Given the description of an element on the screen output the (x, y) to click on. 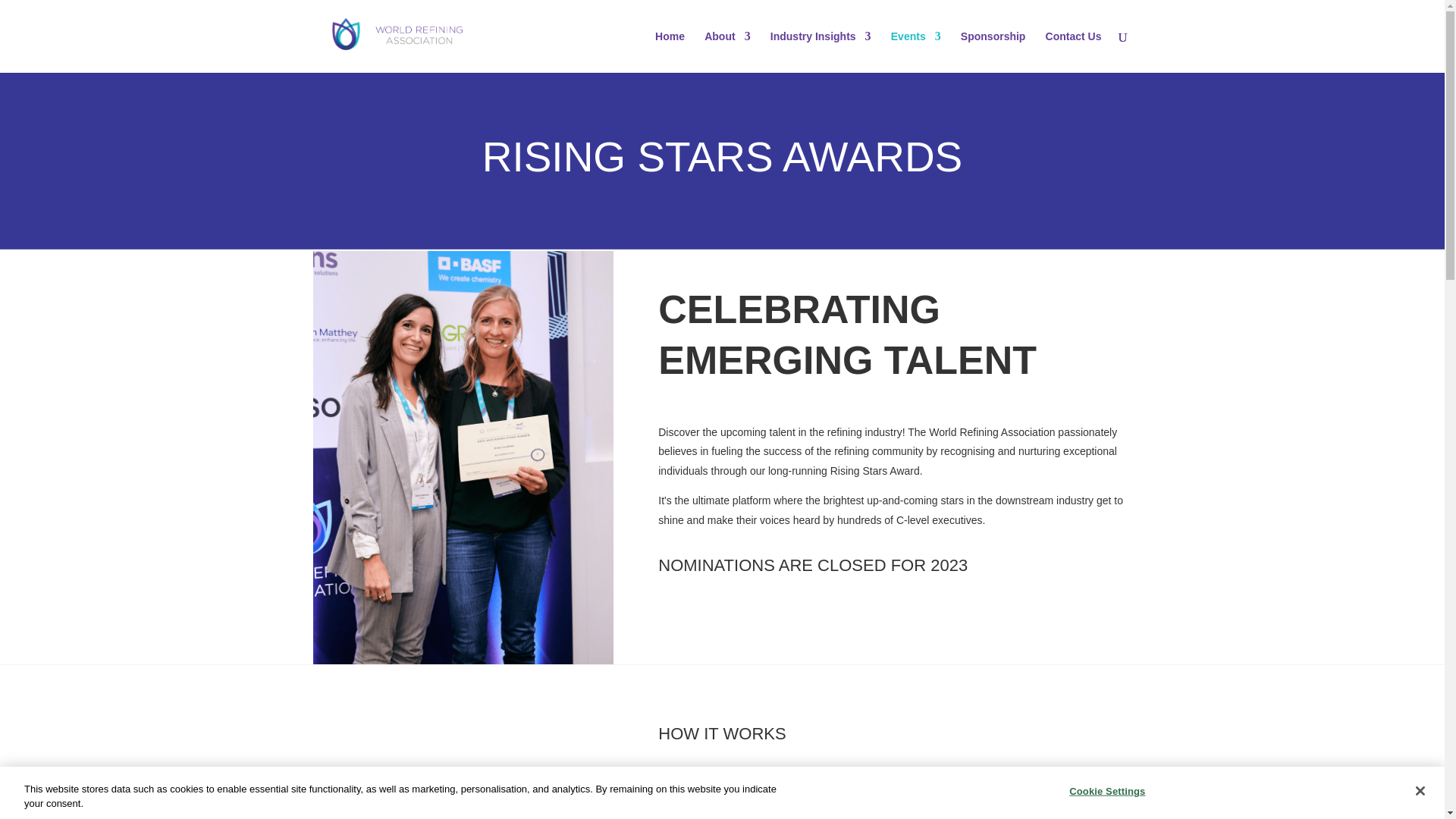
Events (915, 51)
About (726, 51)
Industry Insights (820, 51)
Contact Us (1073, 51)
Sponsorship (993, 51)
